Given the description of an element on the screen output the (x, y) to click on. 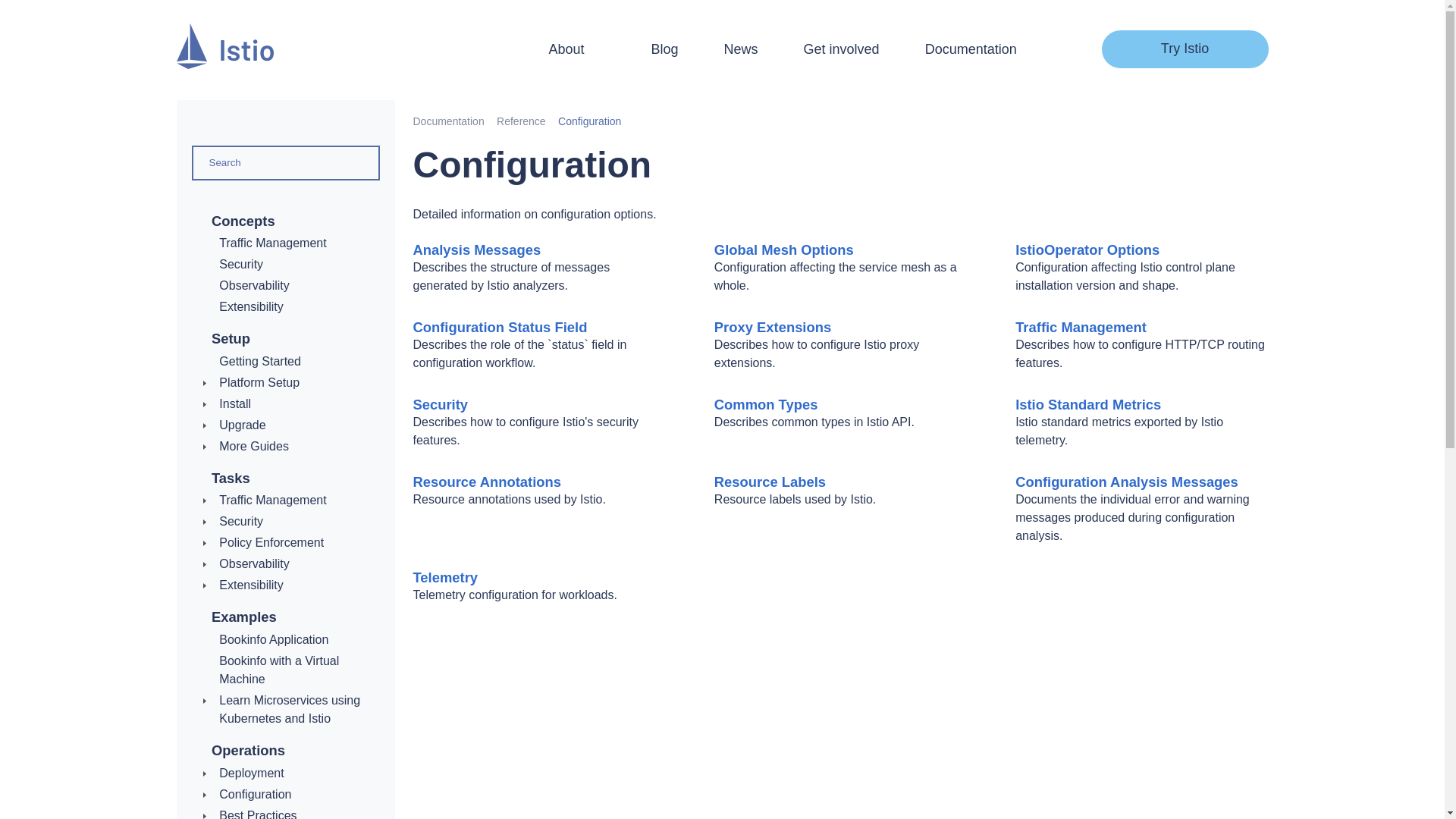
Try Istio (1184, 48)
Platform Setup (259, 382)
Extensibility (250, 306)
Security (241, 264)
Blog (664, 49)
Observability (253, 285)
About (576, 49)
Describes Istio's WebAssembly Plugin system. (250, 306)
News (740, 49)
Concepts (243, 220)
